Given the description of an element on the screen output the (x, y) to click on. 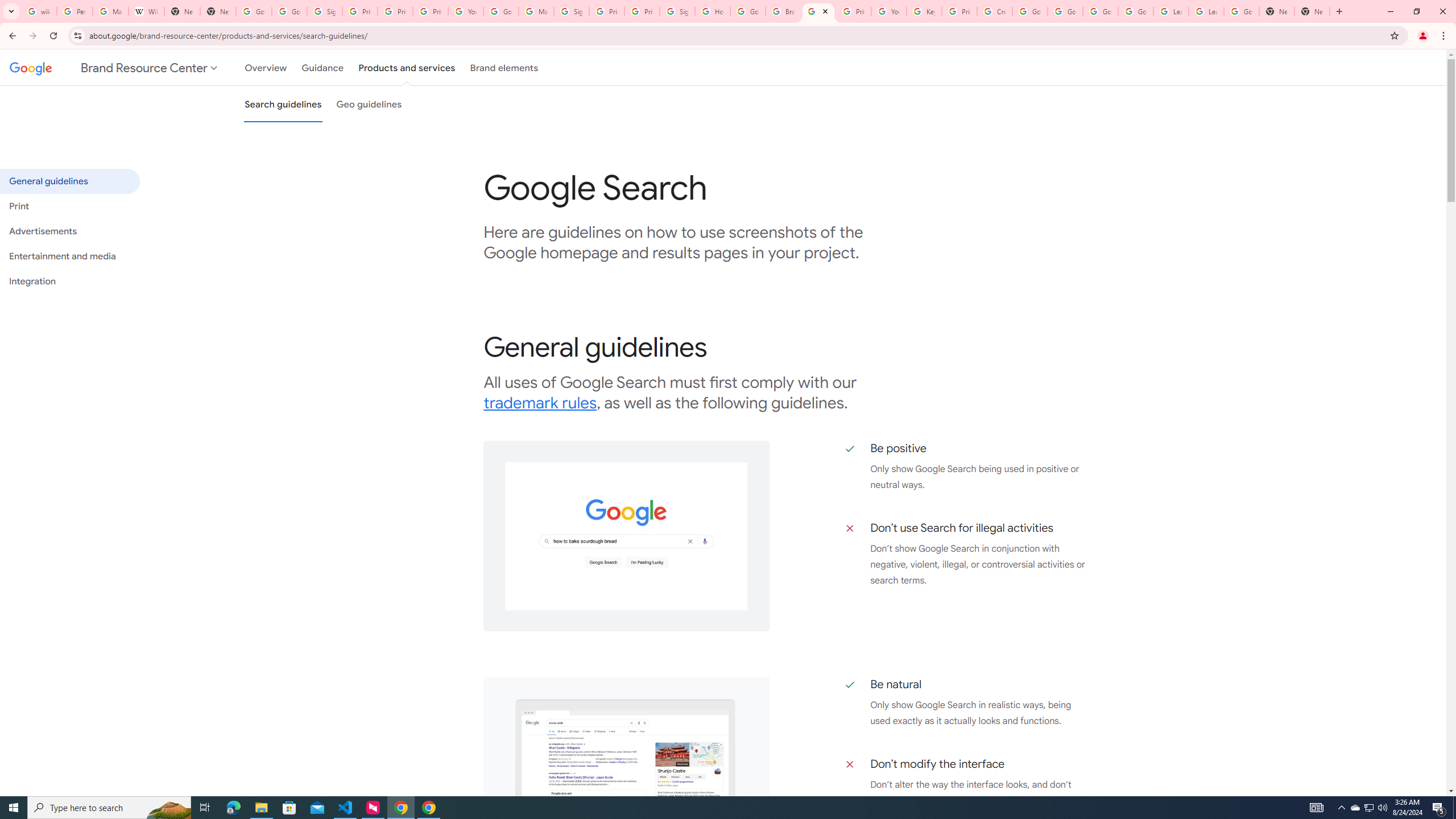
Products and services (406, 67)
Google Account (1240, 11)
Google Account Help (1064, 11)
Print (69, 206)
Manage your Location History - Google Search Help (110, 11)
YouTube (888, 11)
Search guidelines (283, 103)
Overview (265, 67)
